Given the description of an element on the screen output the (x, y) to click on. 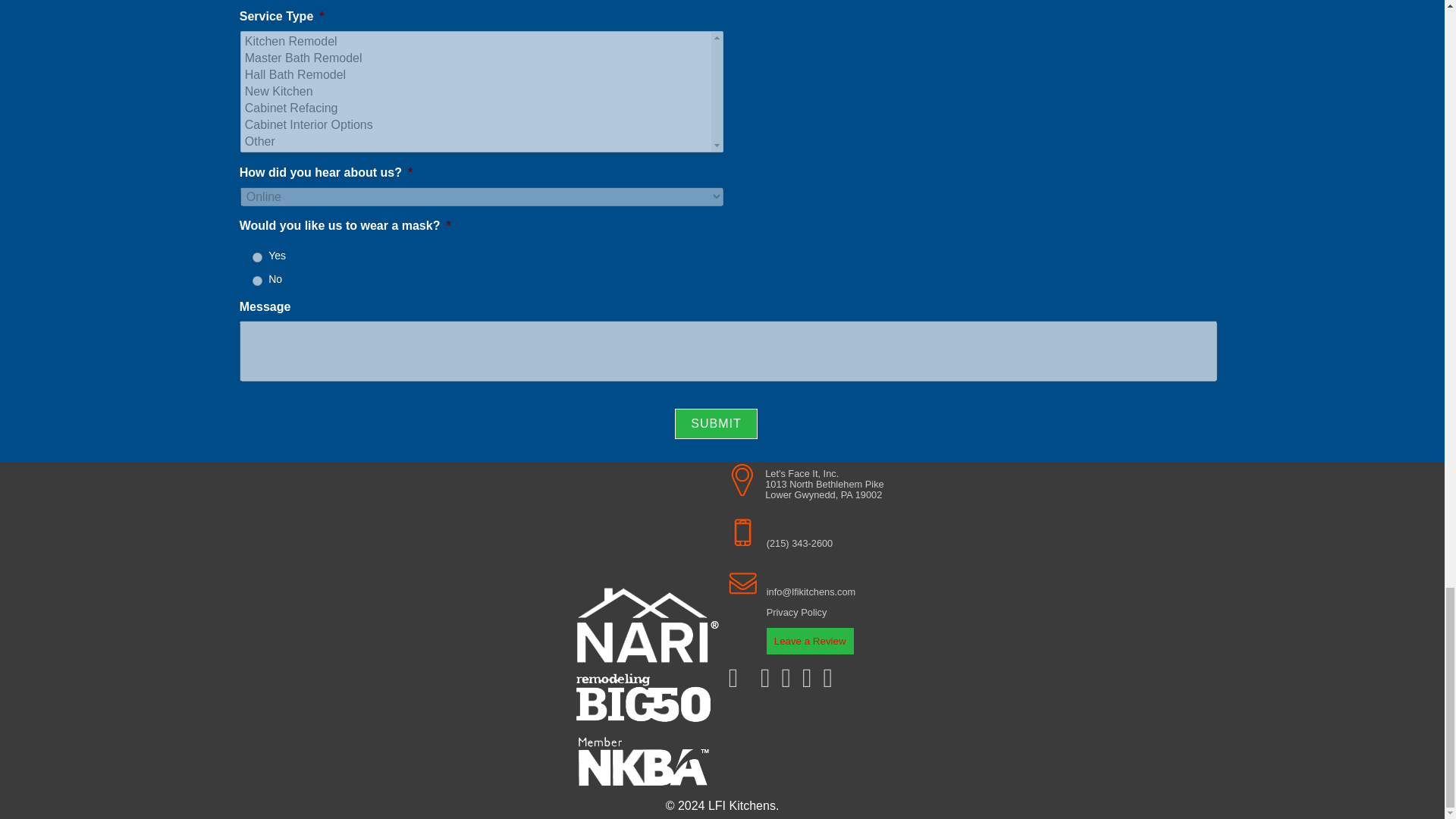
No (256, 280)
Yes (256, 257)
Submit (716, 423)
